Given the description of an element on the screen output the (x, y) to click on. 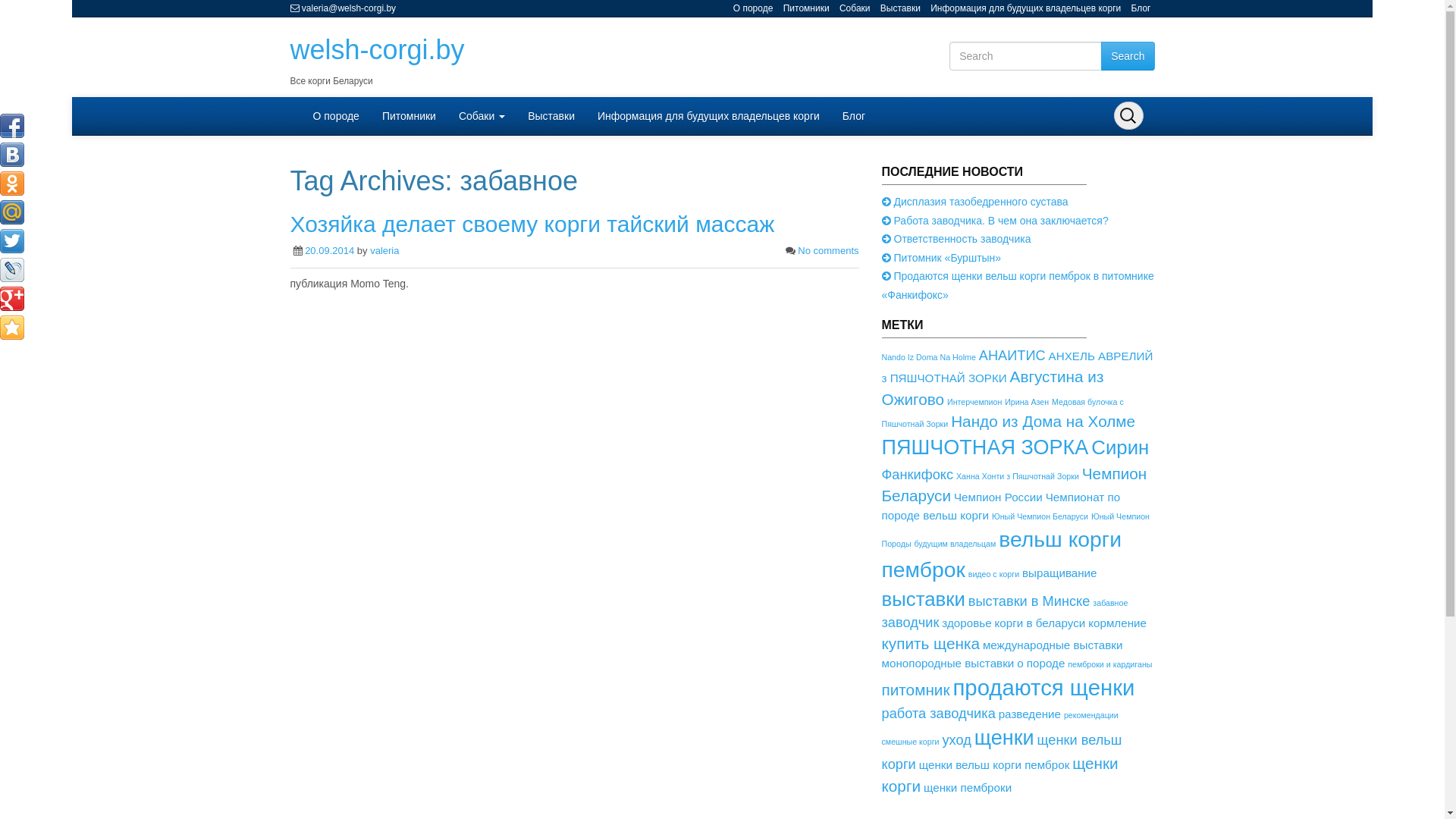
Nando Iz Doma Na Holme Element type: text (928, 356)
valeria@welsh-corgi.by Element type: text (348, 8)
No comments Element type: text (827, 250)
valeria Element type: text (384, 250)
welsh-corgi.by Element type: text (376, 49)
20.09.2014 Element type: text (329, 250)
Search Element type: text (1127, 55)
